Given the description of an element on the screen output the (x, y) to click on. 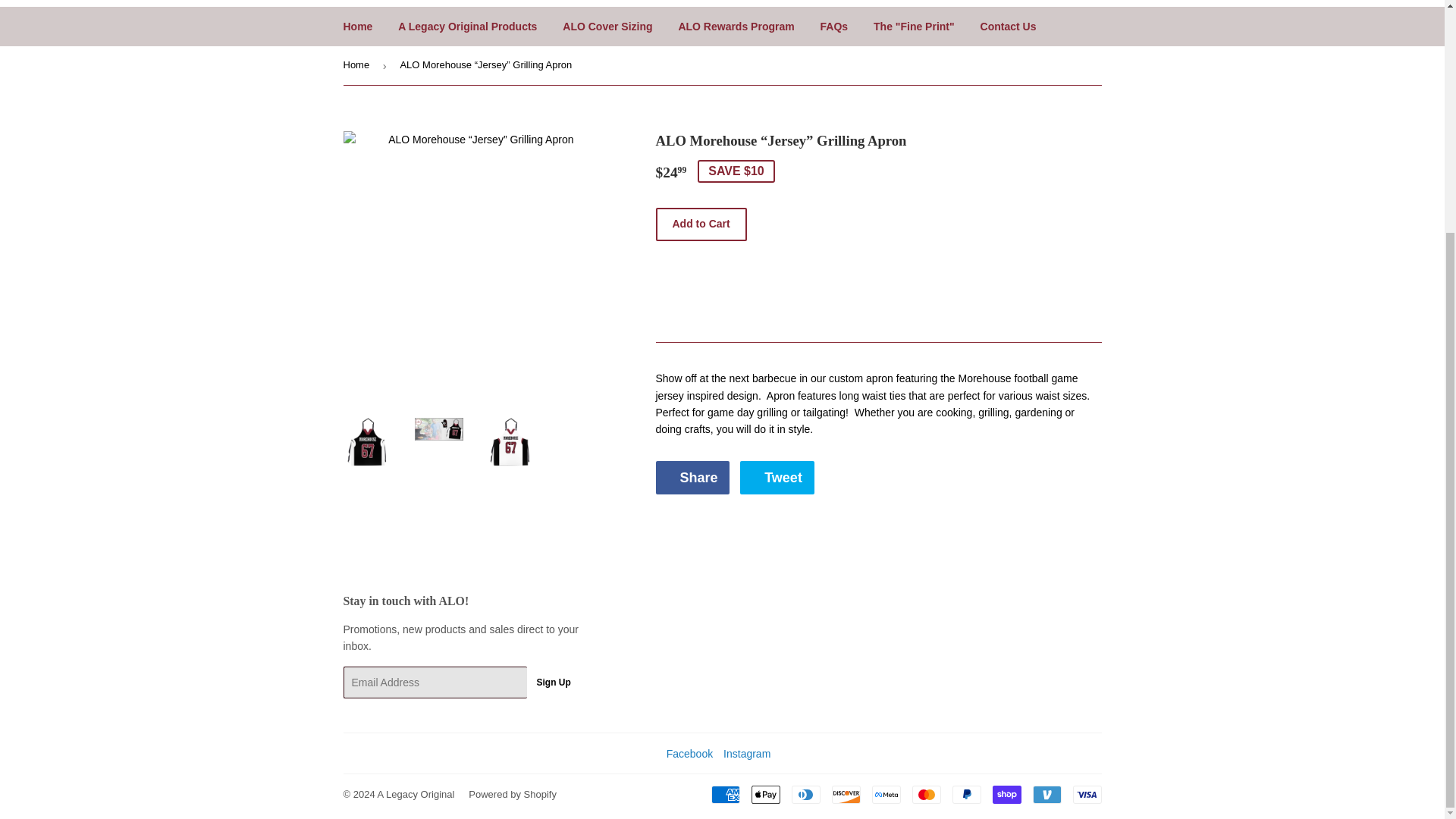
ALO Rewards Program (735, 25)
Shop Pay (1005, 794)
A Legacy Original (415, 794)
Apple Pay (764, 794)
Discover (692, 477)
A Legacy Original on Instagram (845, 794)
Sign Up (746, 753)
FAQs (552, 682)
Visa (834, 25)
